Given the description of an element on the screen output the (x, y) to click on. 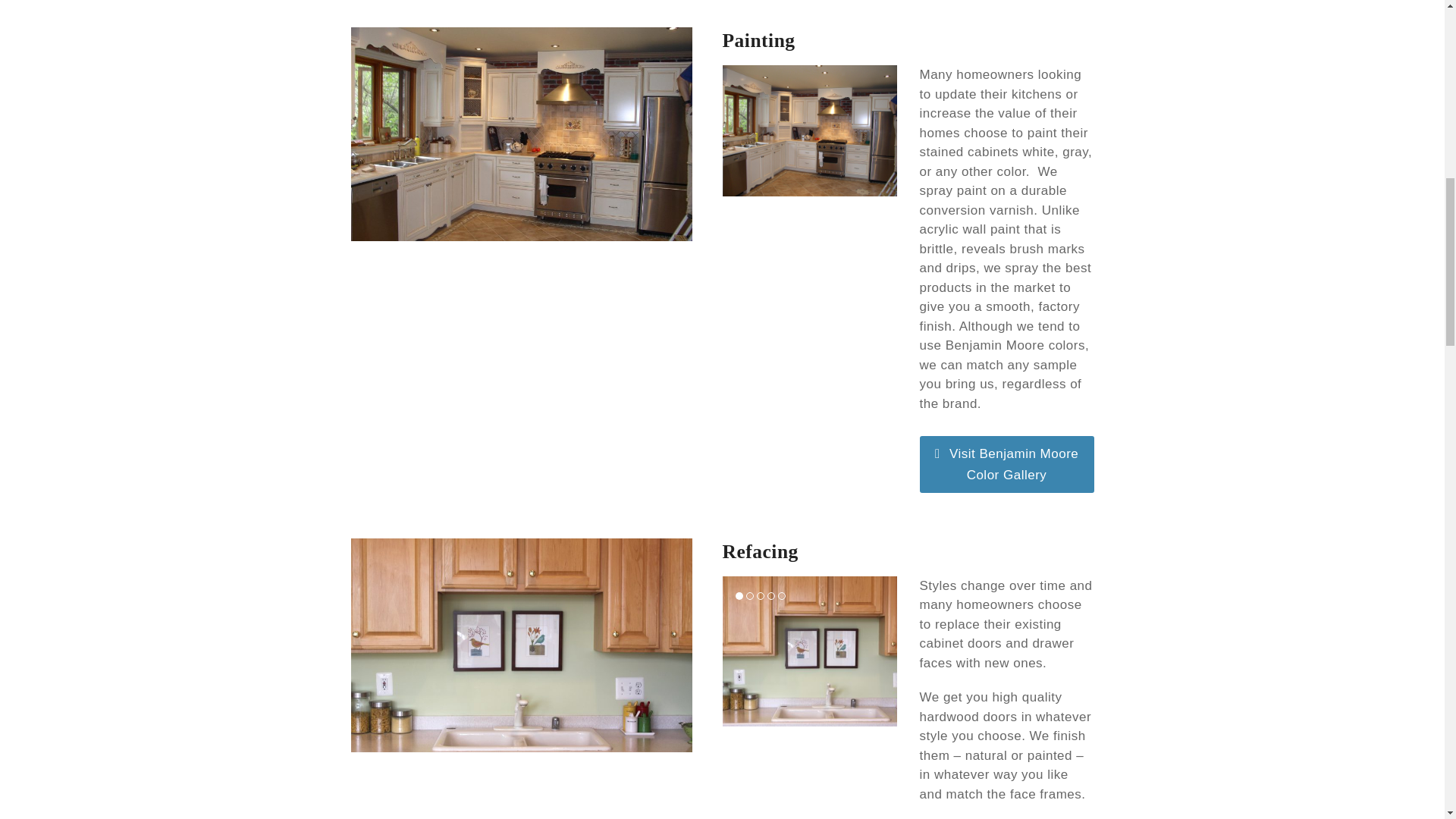
Painting (758, 40)
Visit Benjamin Moore Color Gallery (1005, 463)
Refacing (521, 644)
View Benjamin Moore Color Chart (1005, 463)
Painting (521, 133)
Painted Kitchen Cabinets (809, 130)
